Given the description of an element on the screen output the (x, y) to click on. 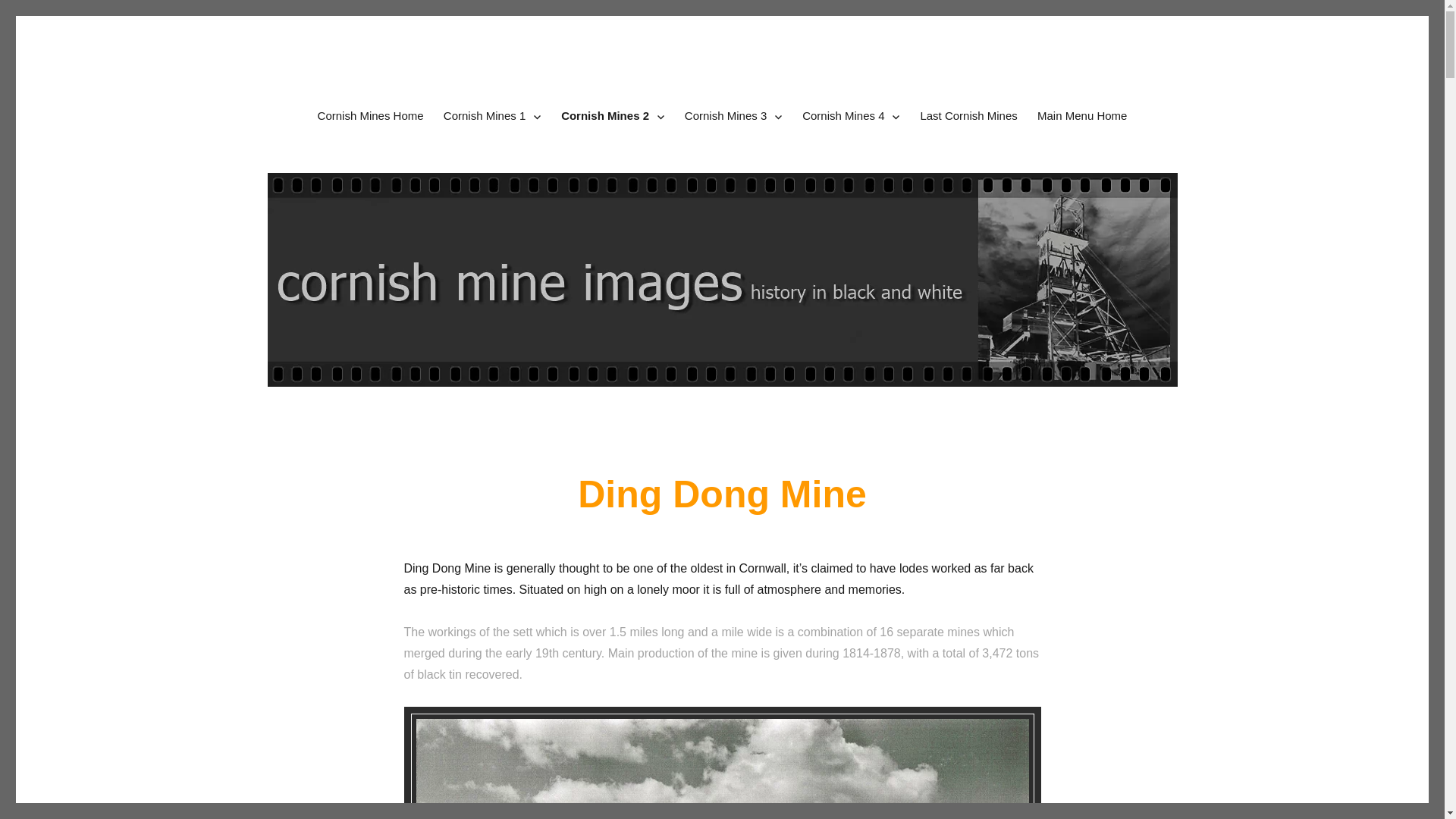
Cornish Mines 1 (492, 115)
Cornish Mines Home (369, 115)
Cornish Mines 2 (613, 115)
Ding Dong Mine 1 (721, 766)
Cornish Mines 3 (733, 115)
